Given the description of an element on the screen output the (x, y) to click on. 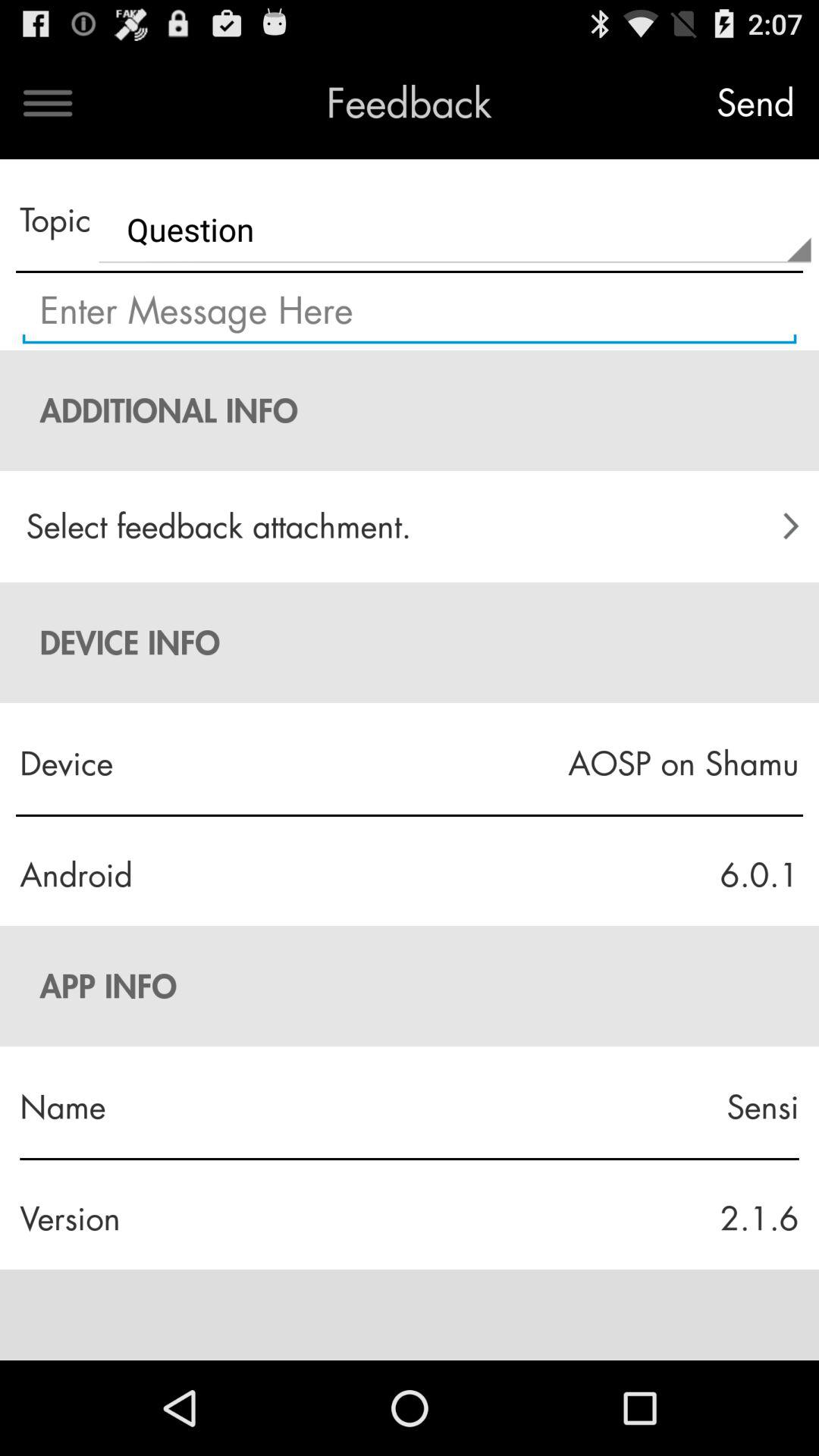
open menu (47, 103)
